Given the description of an element on the screen output the (x, y) to click on. 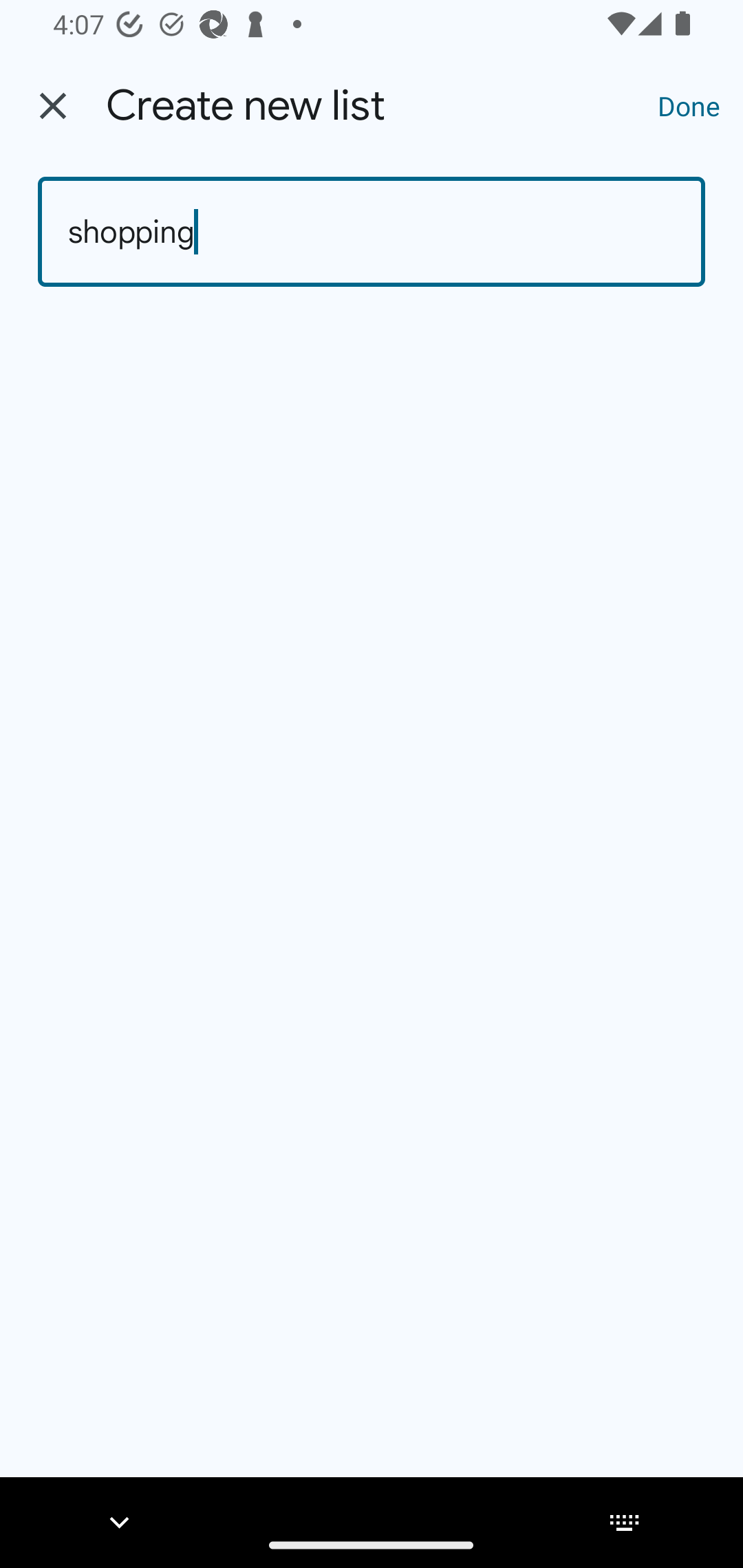
Back (53, 105)
Done (689, 105)
shopping (371, 231)
